Given the description of an element on the screen output the (x, y) to click on. 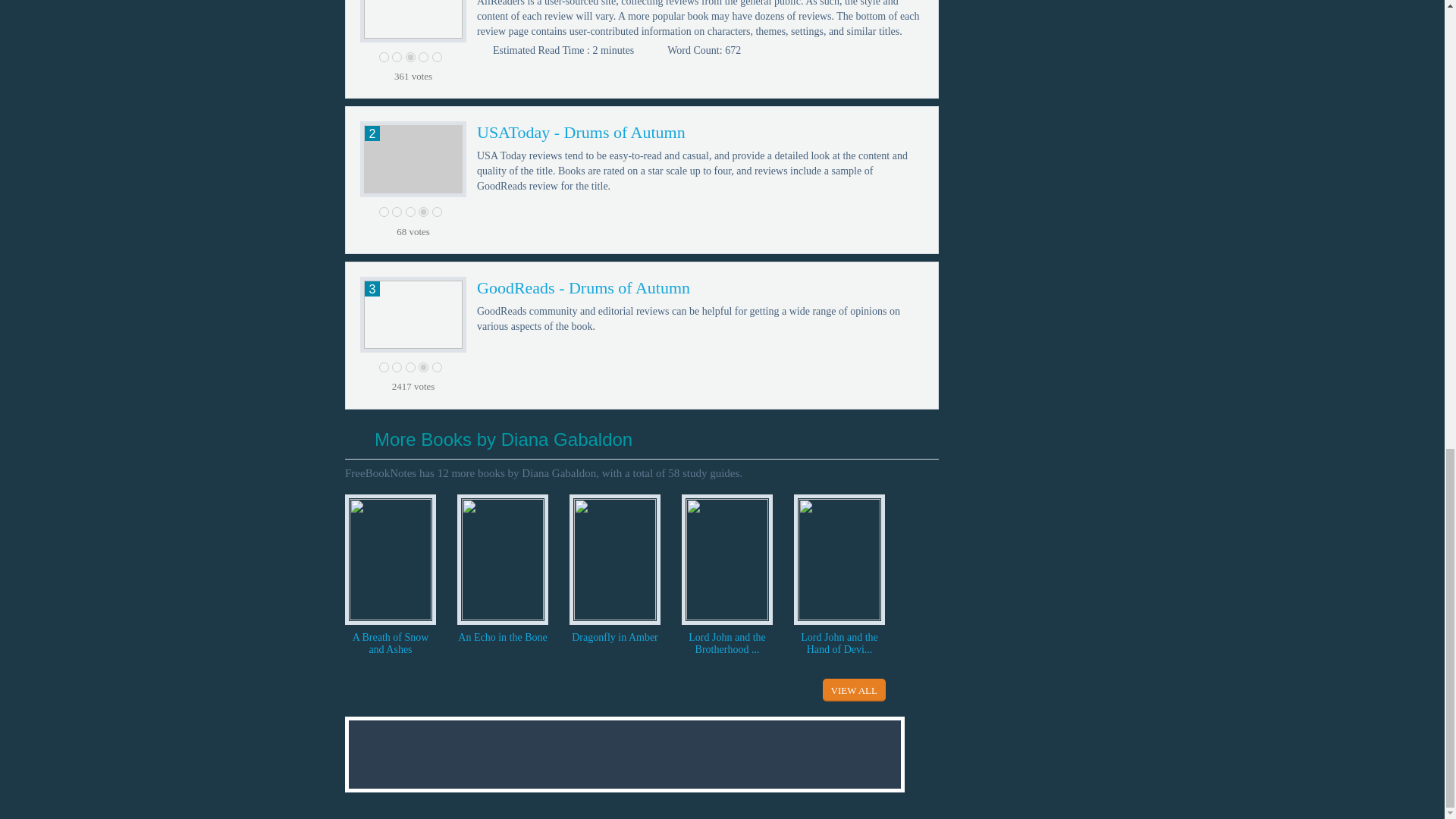
GoodReads - Drums of Autumn (583, 287)
Dragonfly in Amber (615, 636)
5 (437, 212)
VIEW ALL (853, 689)
A Breath of Snow and Ashes (390, 642)
2 (396, 367)
2 (396, 57)
3 (410, 367)
2 (396, 212)
1 (383, 212)
